Given the description of an element on the screen output the (x, y) to click on. 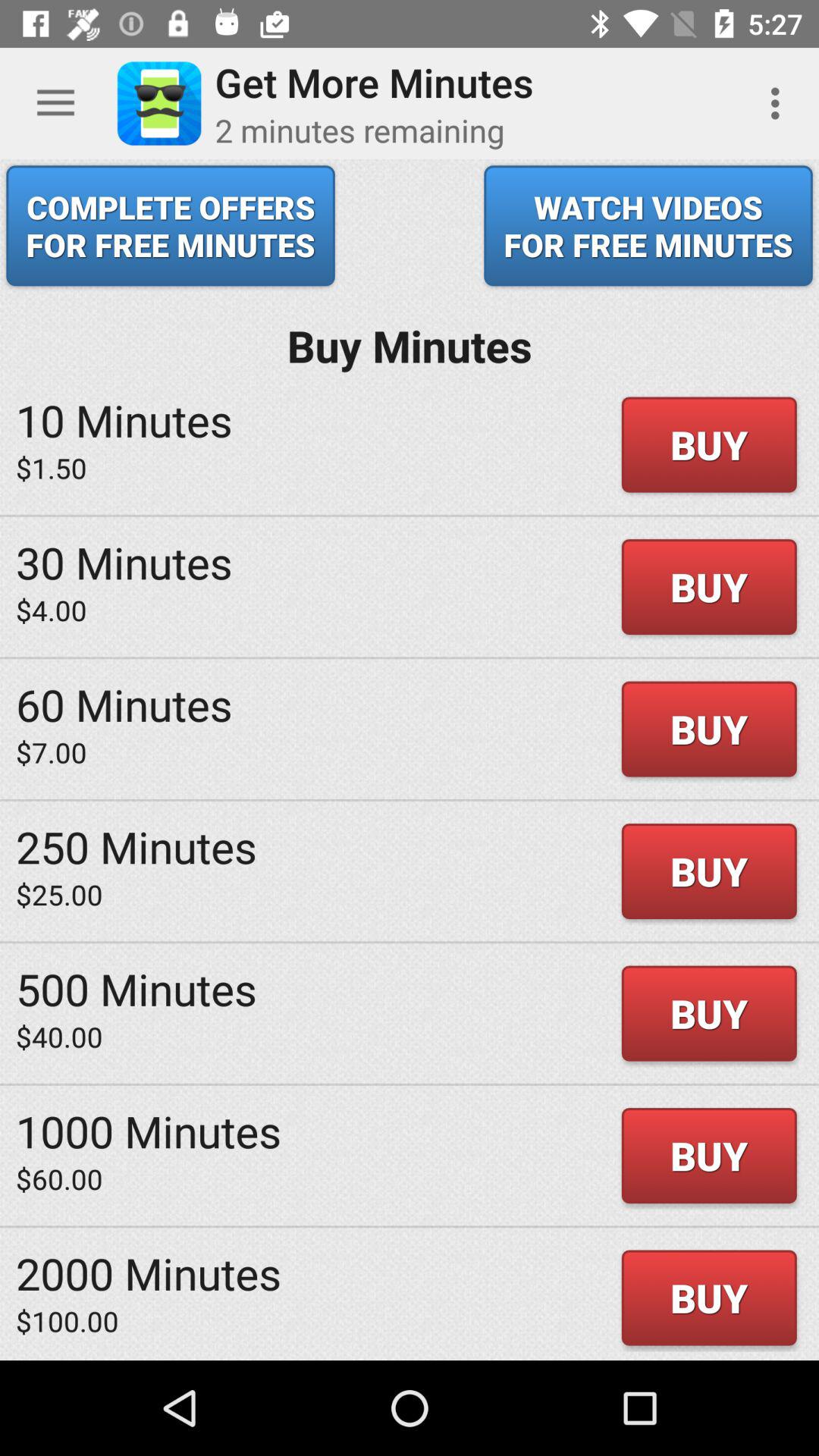
jump until the $1.50 icon (51, 467)
